Given the description of an element on the screen output the (x, y) to click on. 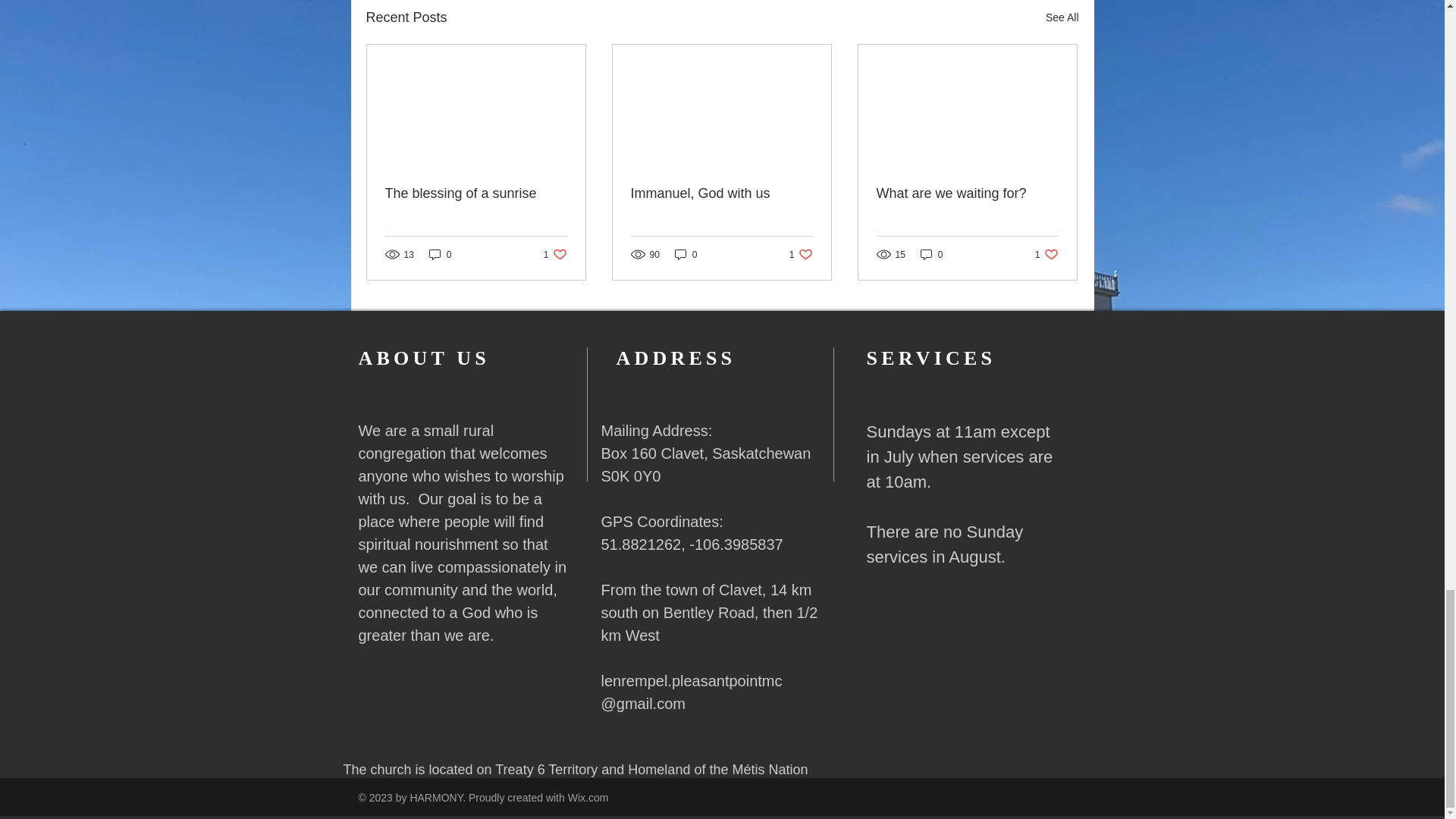
The blessing of a sunrise (476, 193)
What are we waiting for? (967, 193)
Immanuel, God with us (721, 193)
See All (1061, 17)
0 (1046, 254)
0 (440, 254)
0 (555, 254)
Wix.com (931, 254)
